Given the description of an element on the screen output the (x, y) to click on. 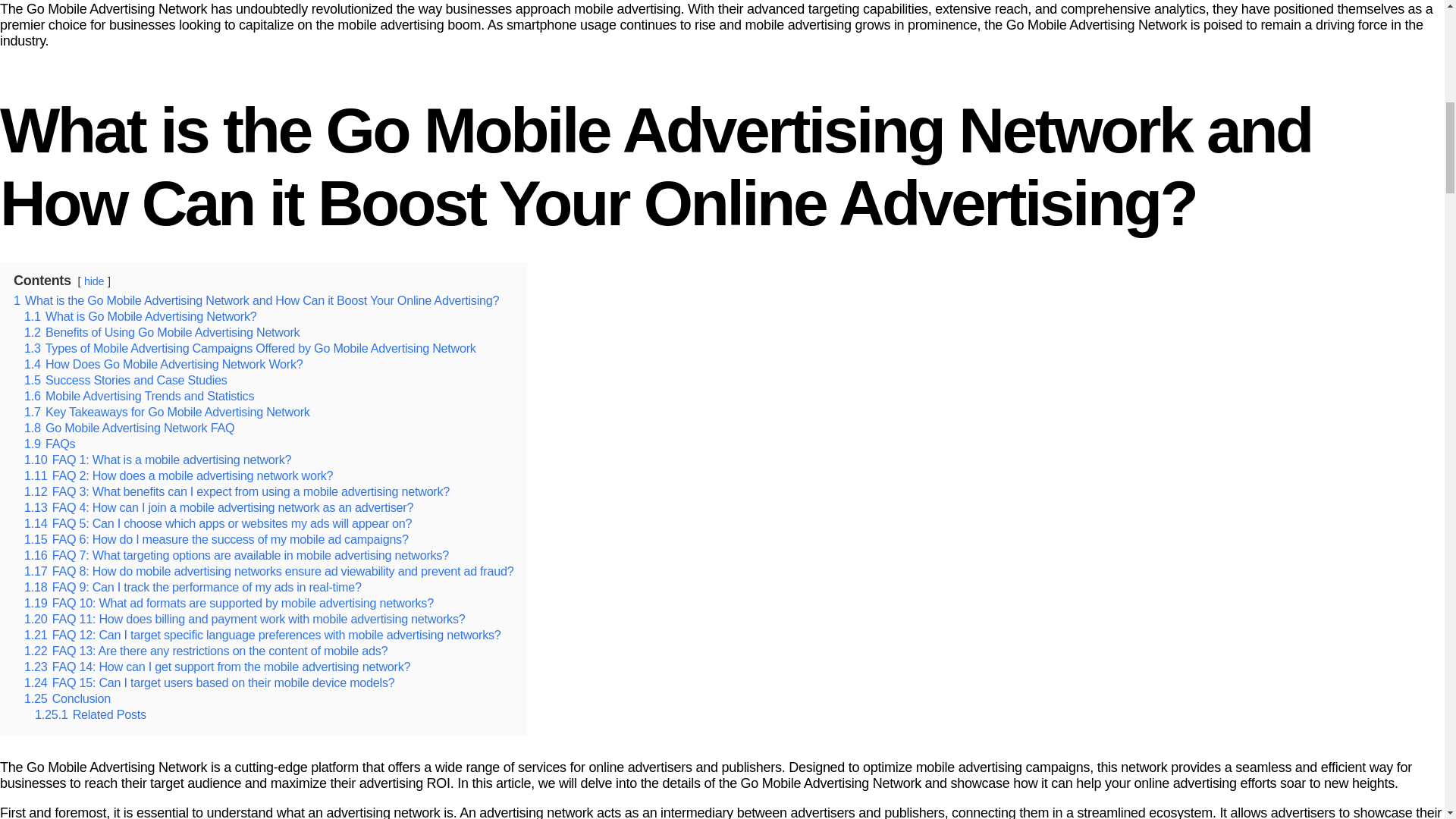
hide (93, 281)
1.2 Benefits of Using Go Mobile Advertising Network (161, 332)
1.1 What is Go Mobile Advertising Network? (140, 315)
1.4 How Does Go Mobile Advertising Network Work? (163, 364)
